Given the description of an element on the screen output the (x, y) to click on. 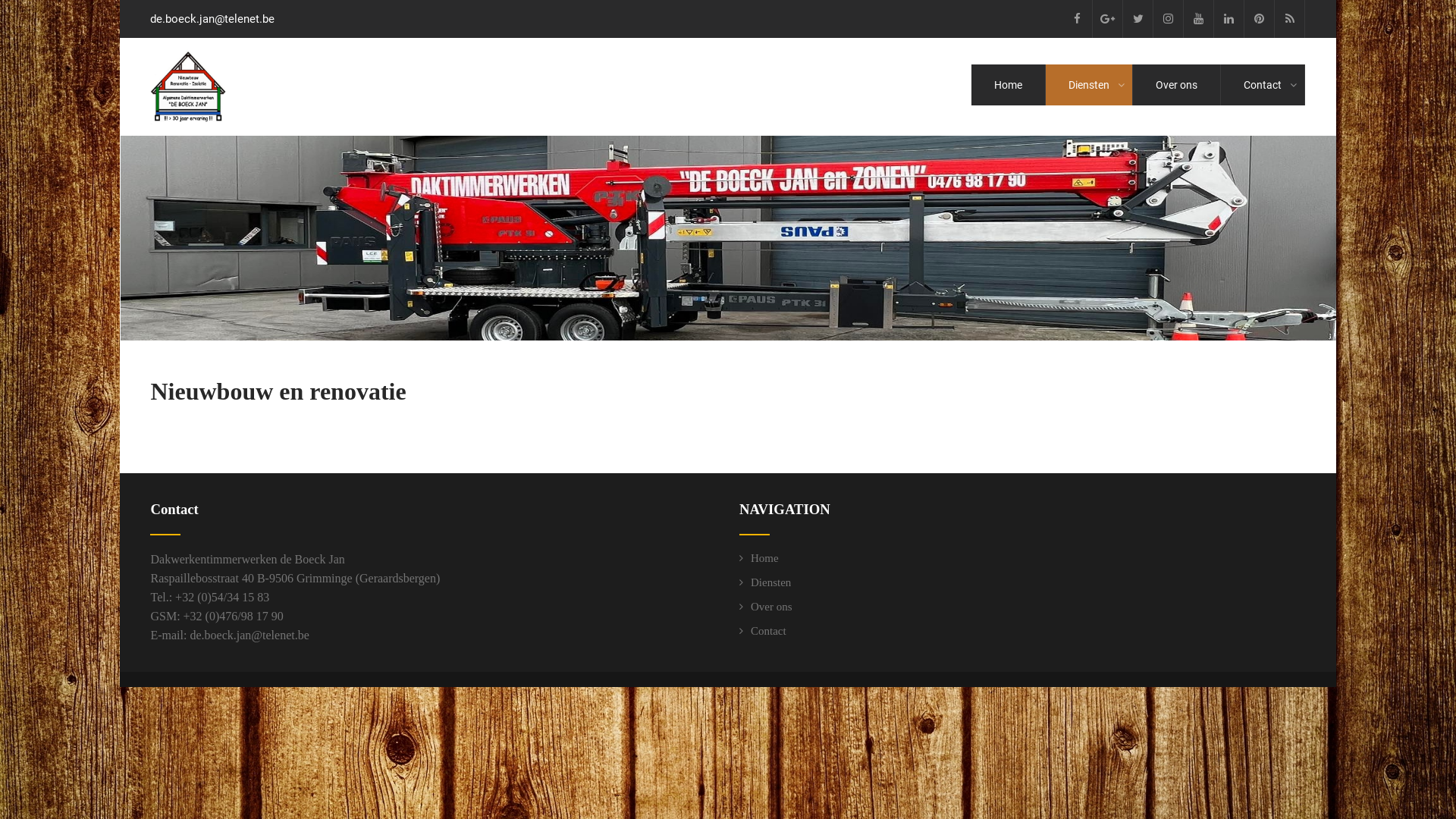
twitter Element type: hover (1138, 18)
pinterest Element type: hover (1259, 18)
google-plus Element type: hover (1107, 18)
Over ons Element type: text (1176, 84)
Over ons Element type: text (765, 606)
youtube Element type: hover (1198, 18)
linkedin Element type: hover (1229, 18)
de.boeck.jan@telenet.be Element type: text (248, 634)
facebook Element type: hover (1077, 18)
instagram Element type: hover (1168, 18)
Diensten Element type: text (1088, 84)
Diensten Element type: text (764, 582)
Contact Element type: text (1262, 84)
Home Element type: text (1007, 84)
Contact Element type: text (762, 630)
rss Element type: hover (1289, 18)
Home Element type: text (758, 558)
